Given the description of an element on the screen output the (x, y) to click on. 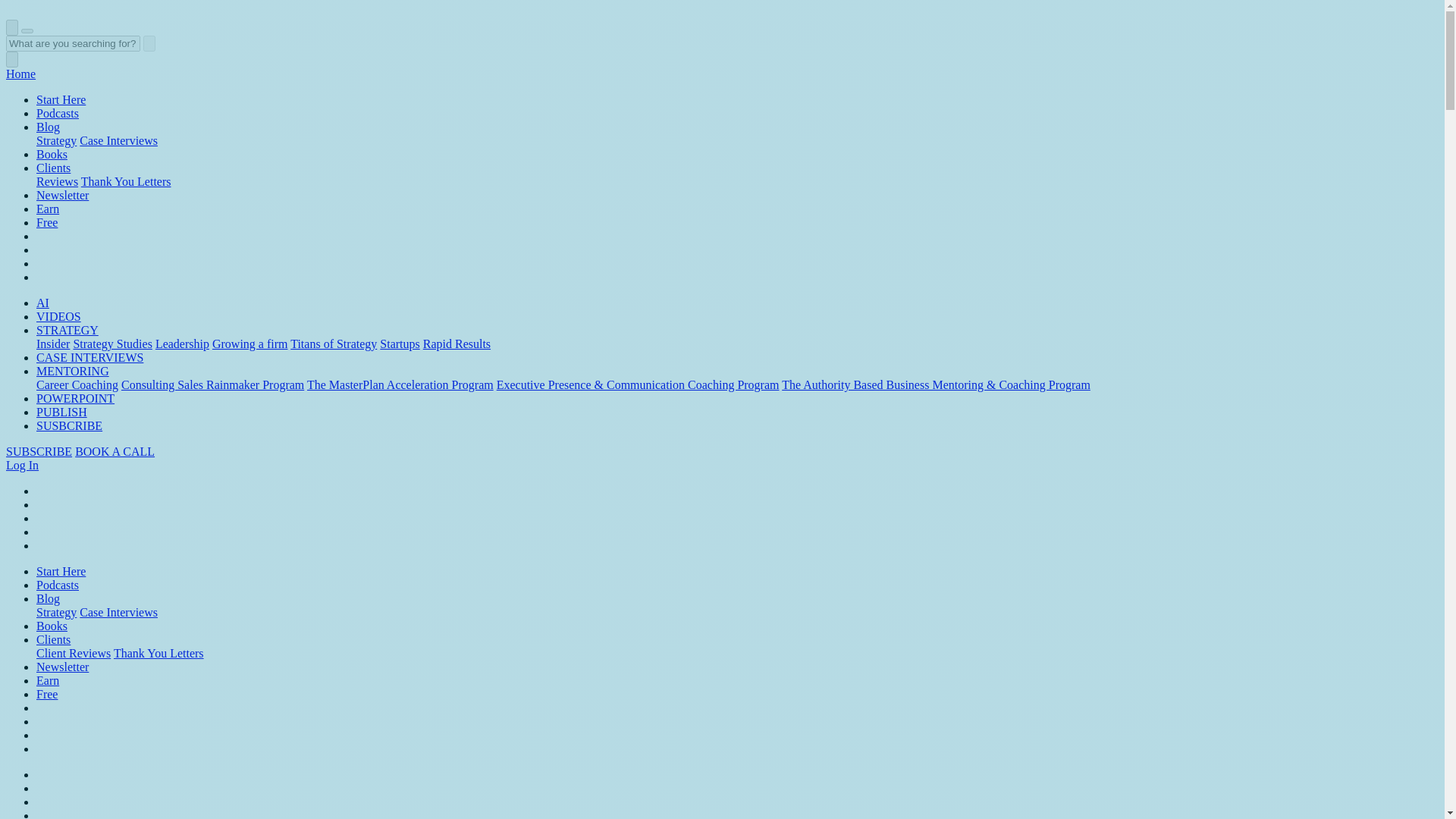
Case Interviews (118, 140)
Podcasts (57, 113)
VIDEOS (58, 316)
Earn (47, 208)
Titans of Strategy (333, 343)
VIDEOS (58, 316)
Books (51, 154)
Thank You Letters (126, 181)
The MasterPlan Acceleration Program (400, 384)
AI (42, 302)
Career Coaching (76, 384)
HOME (19, 73)
Podcasts (57, 113)
Growing a firm (250, 343)
Home (19, 73)
